Given the description of an element on the screen output the (x, y) to click on. 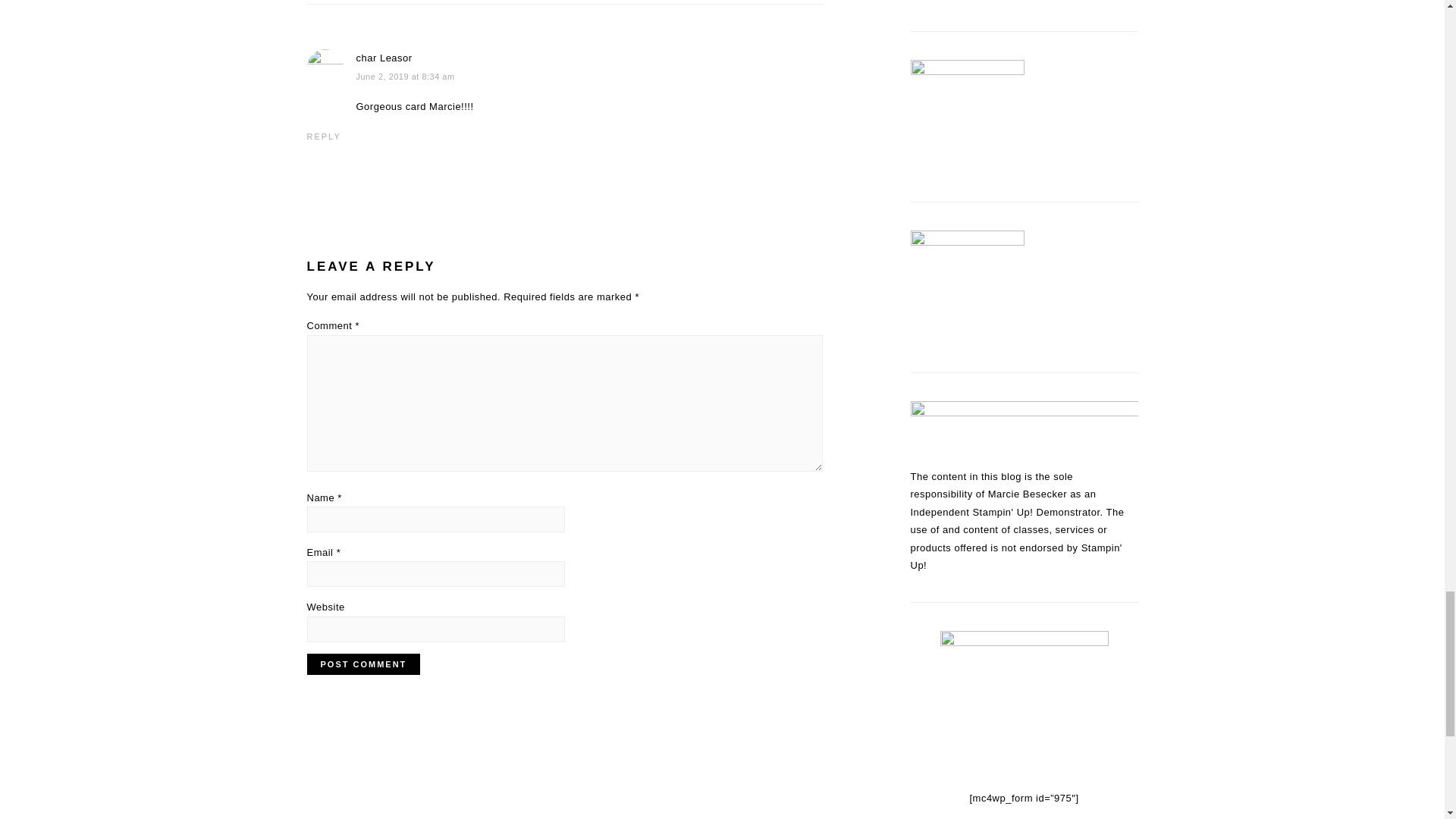
June 2, 2019 at 8:34 am (405, 76)
REPLY (322, 135)
Post Comment (362, 663)
Post Comment (362, 663)
